Given the description of an element on the screen output the (x, y) to click on. 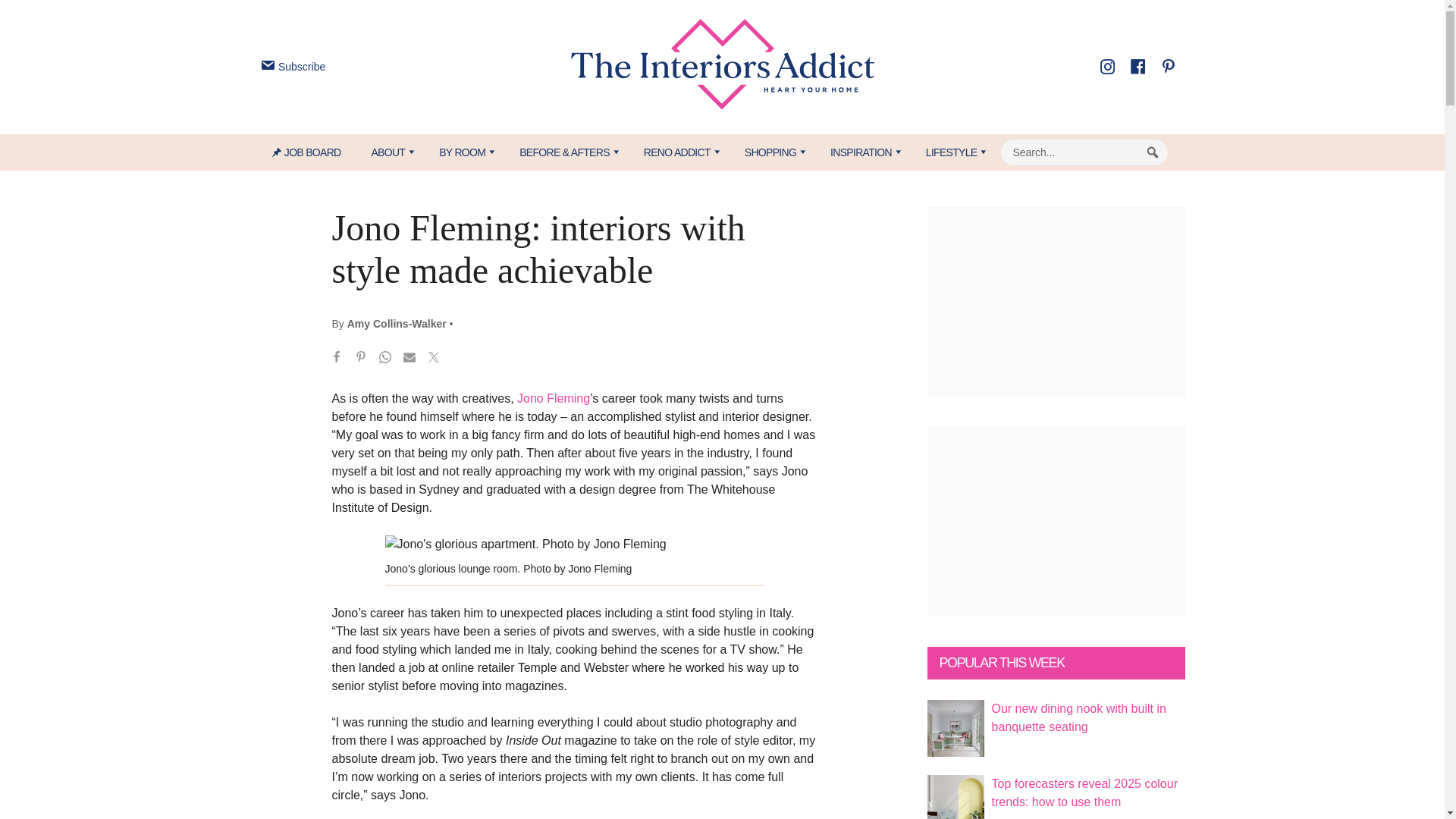
Search (1152, 151)
Share via Email (409, 359)
ABOUT (389, 152)
Share on Facebook (336, 359)
Share on Twitter (433, 359)
BY ROOM (463, 152)
JOB BOARD (313, 152)
Subscribe (291, 66)
YES PLEASE! (793, 294)
Share on Pinterest (360, 359)
